Given the description of an element on the screen output the (x, y) to click on. 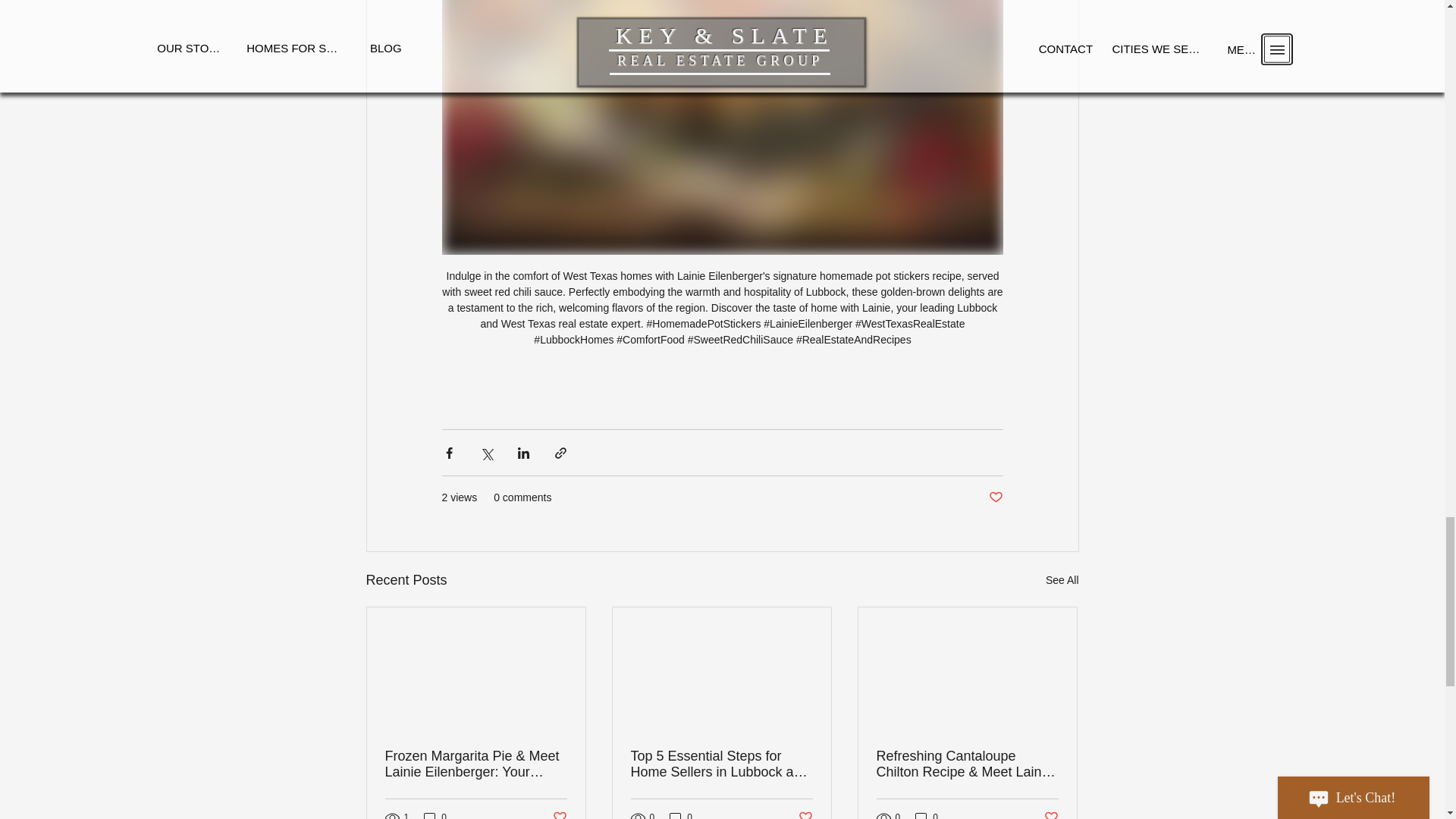
Post not marked as liked (1050, 814)
0 (435, 814)
See All (1061, 580)
Post not marked as liked (995, 497)
Post not marked as liked (804, 814)
0 (926, 814)
Post not marked as liked (558, 814)
0 (681, 814)
